Given the description of an element on the screen output the (x, y) to click on. 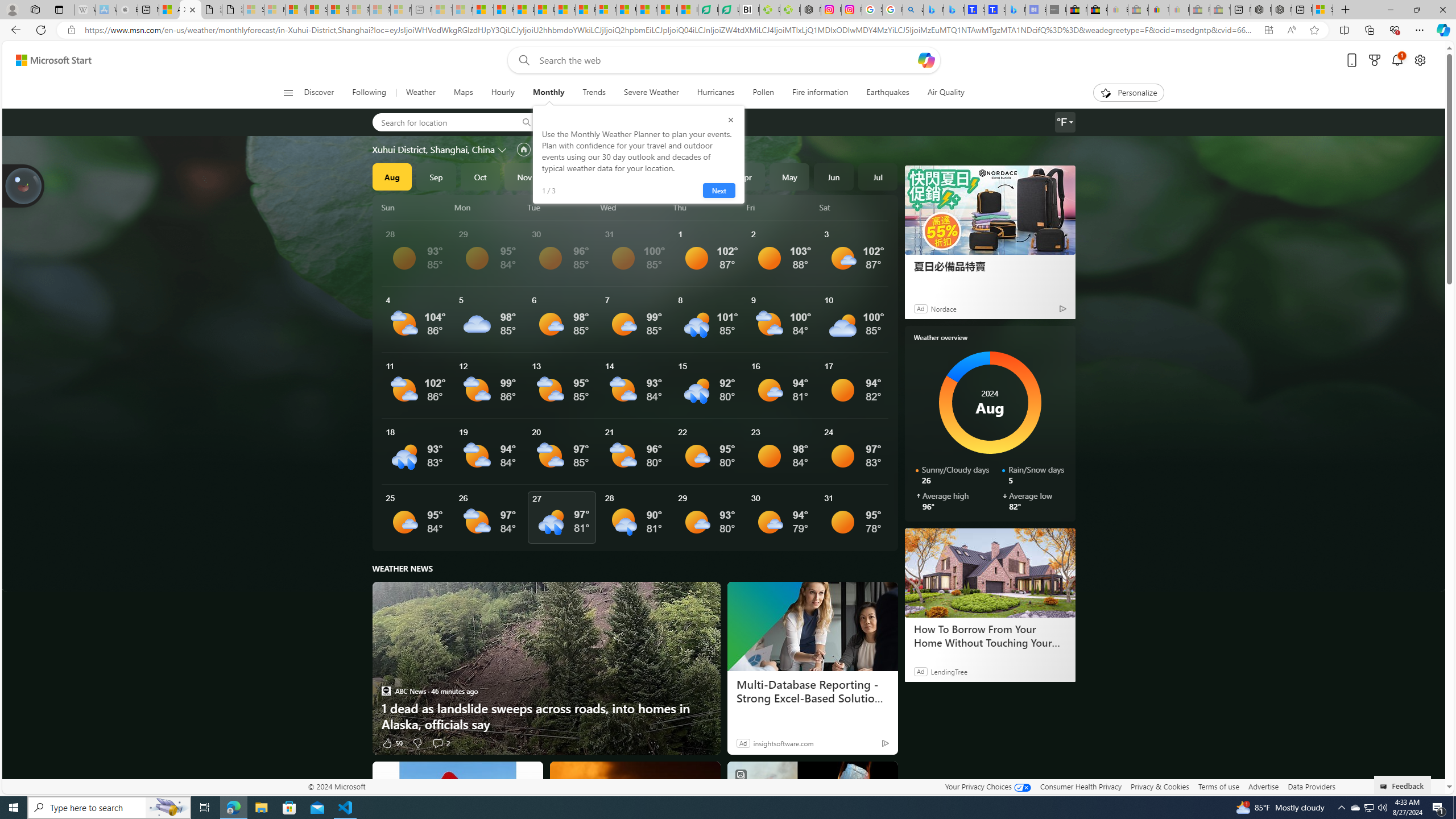
Remove location (653, 122)
Jun (833, 176)
May (789, 176)
